Given the description of an element on the screen output the (x, y) to click on. 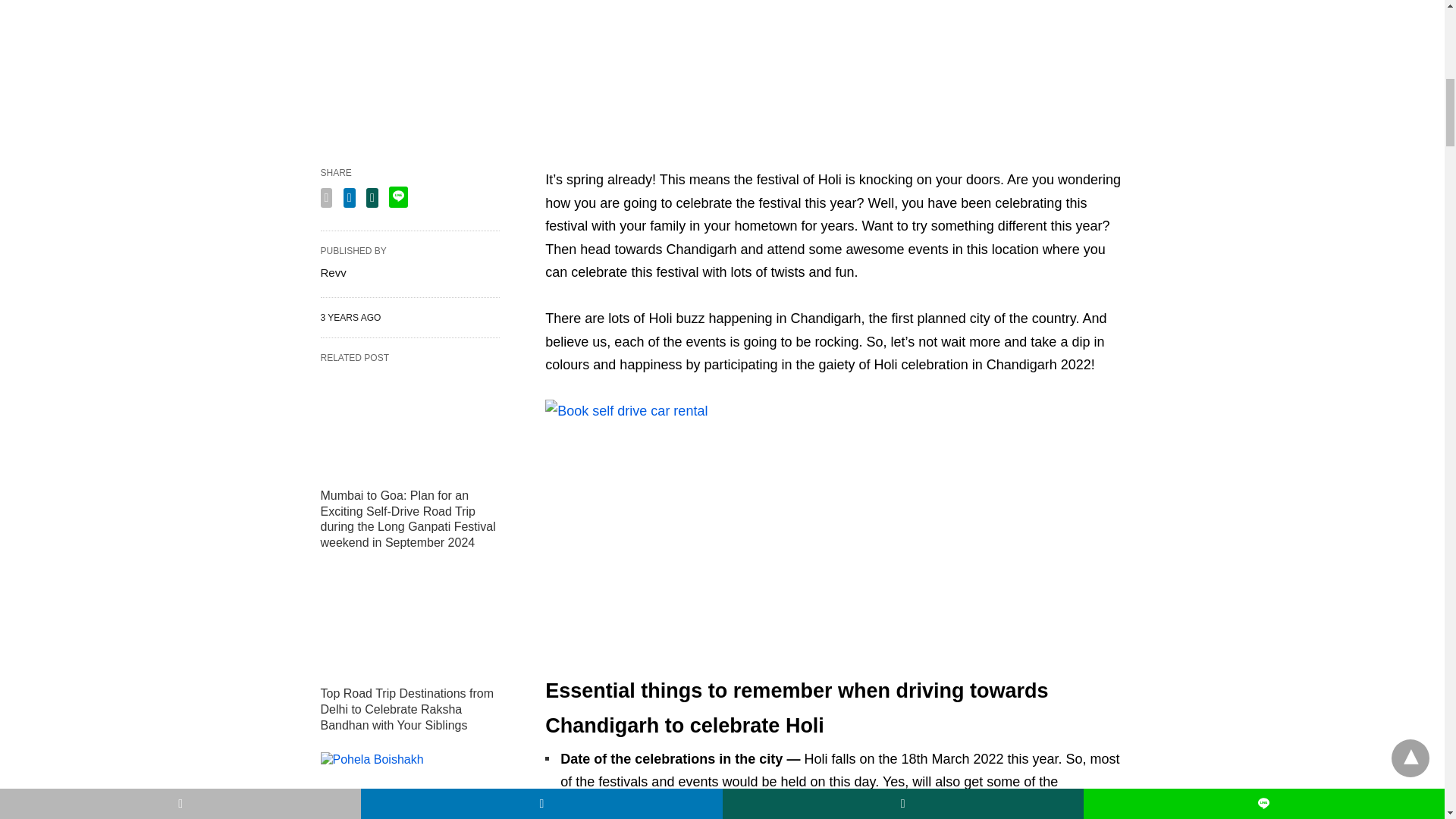
line share (397, 197)
